Given the description of an element on the screen output the (x, y) to click on. 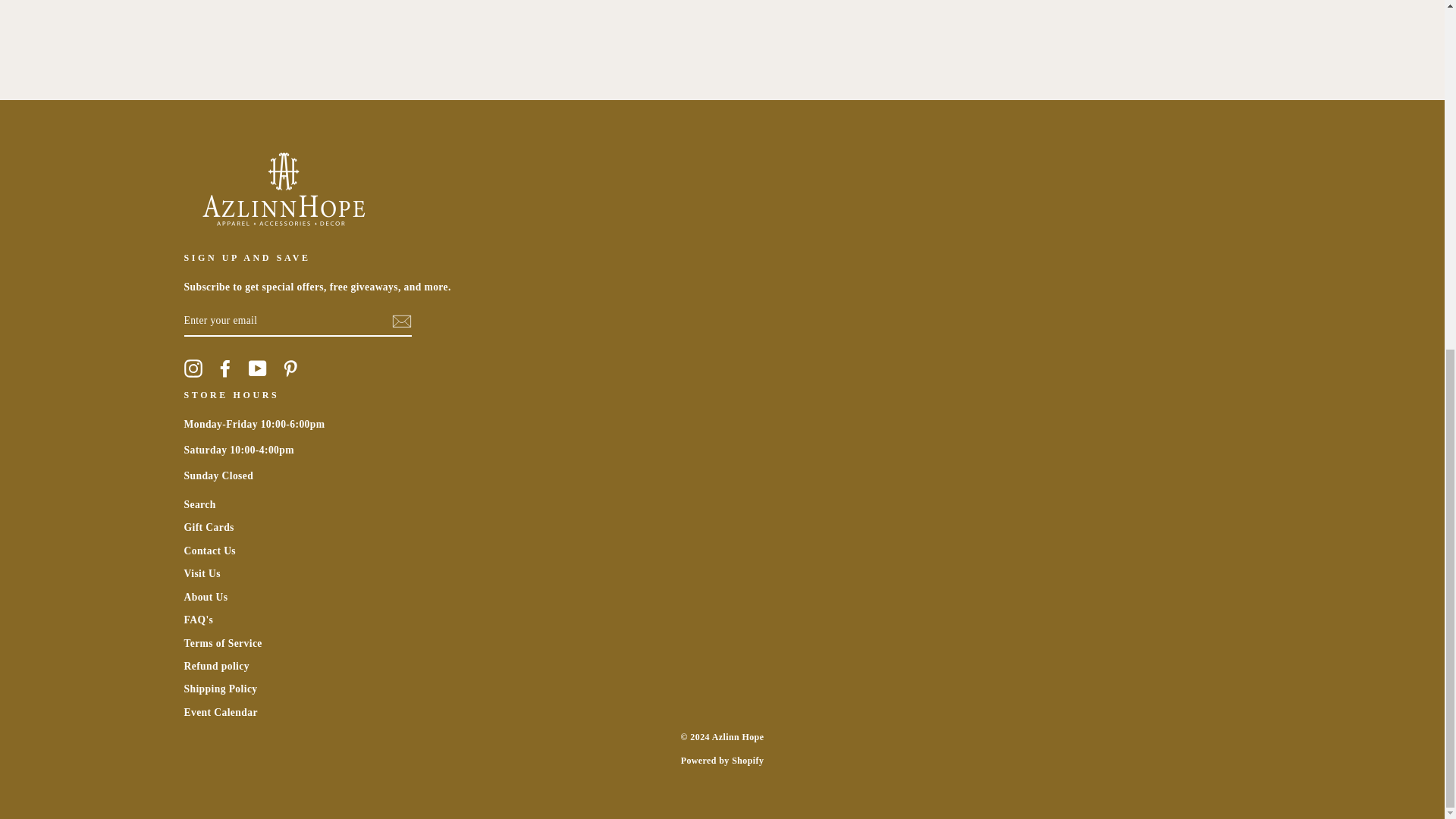
Azlinn Hope on Facebook (224, 368)
Azlinn Hope on Pinterest (290, 368)
Azlinn Hope on Instagram (192, 368)
Azlinn Hope on YouTube (257, 368)
